Given the description of an element on the screen output the (x, y) to click on. 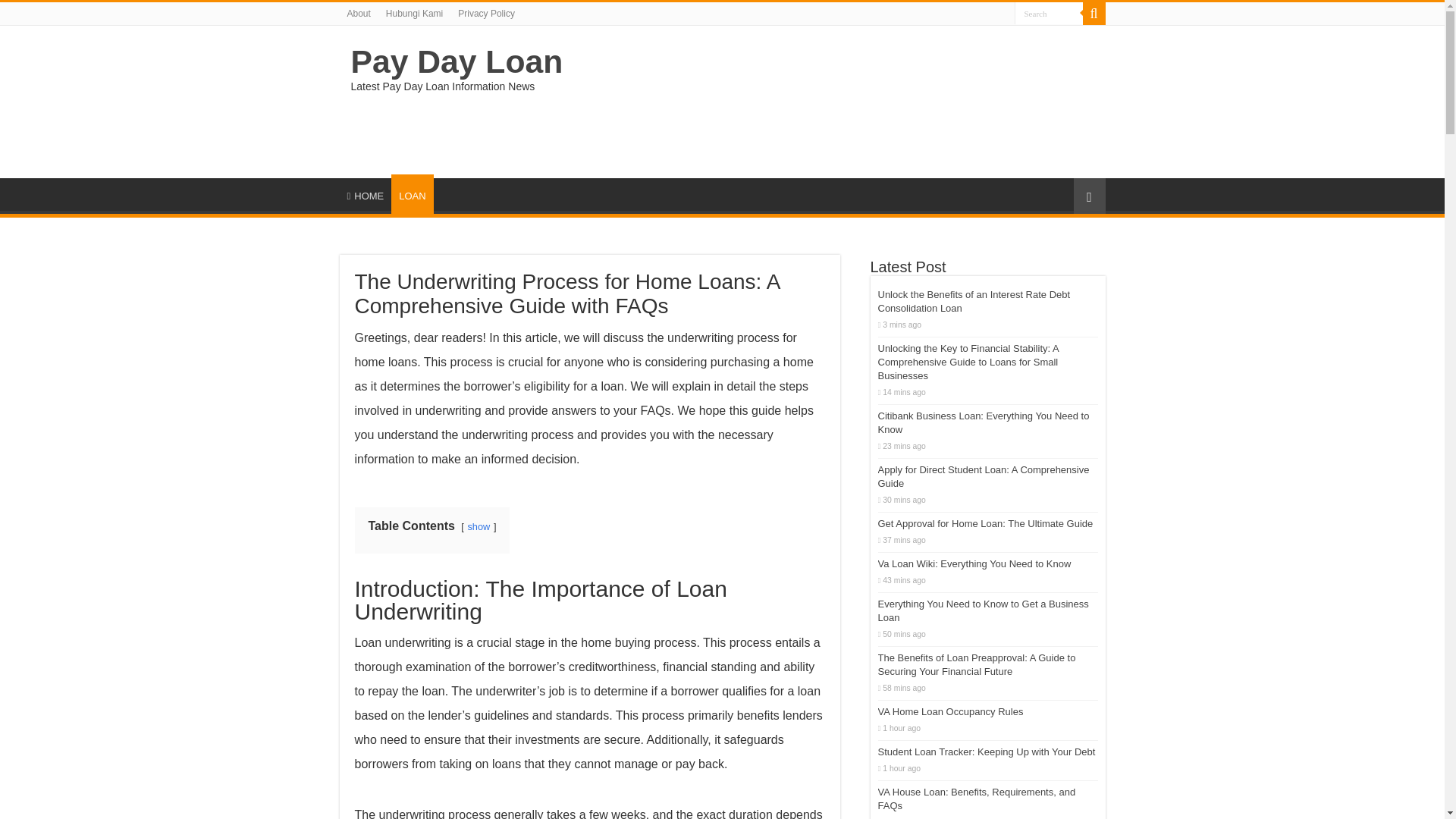
Search (1048, 13)
Search (1094, 13)
Search (1048, 13)
Pay Day Loan (456, 61)
Hubungi Kami (413, 13)
About (358, 13)
Privacy Policy (485, 13)
Search (1048, 13)
LOAN (411, 193)
HOME (365, 193)
